Given the description of an element on the screen output the (x, y) to click on. 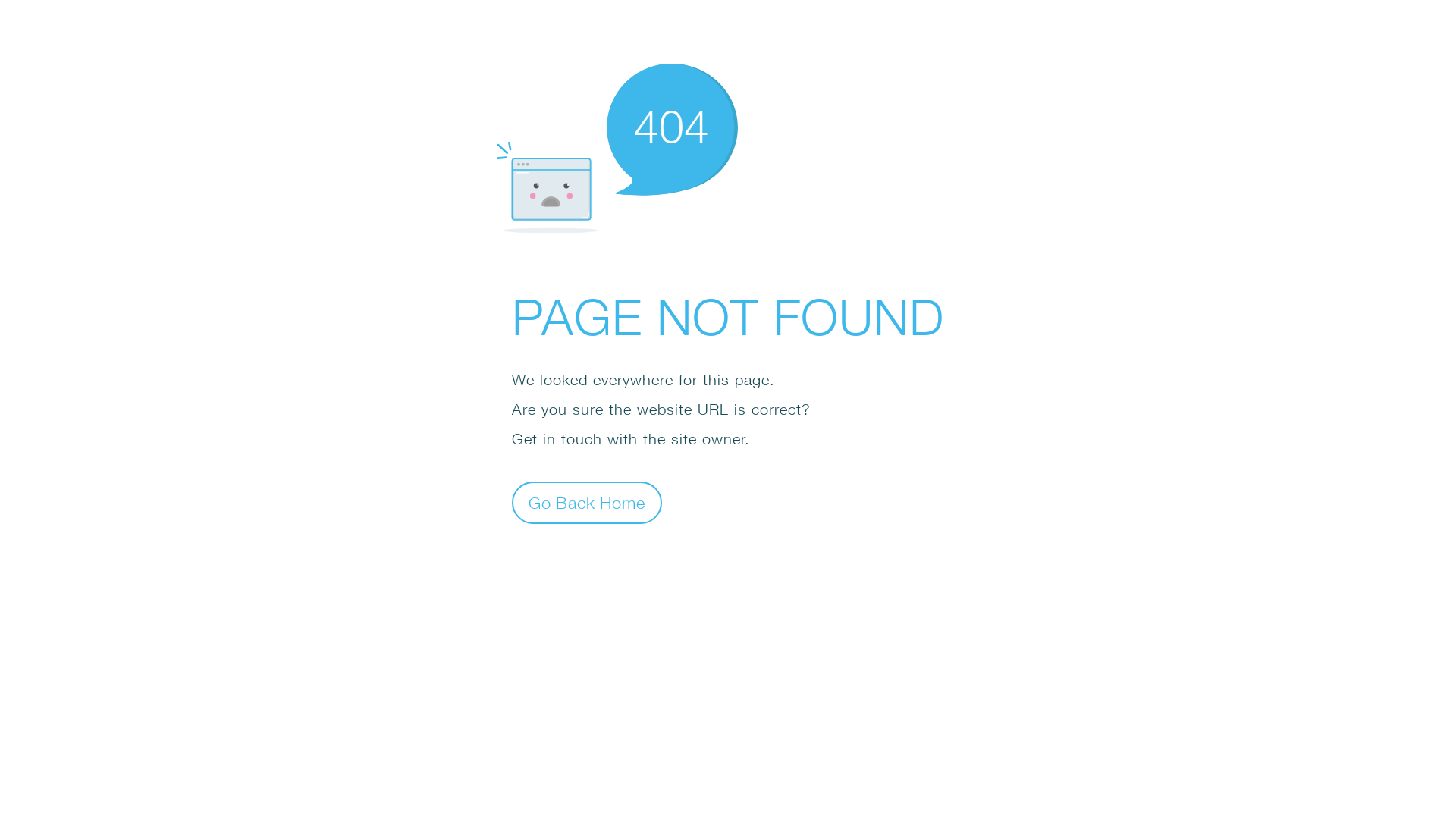
Go Back Home Element type: text (586, 502)
